Given the description of an element on the screen output the (x, y) to click on. 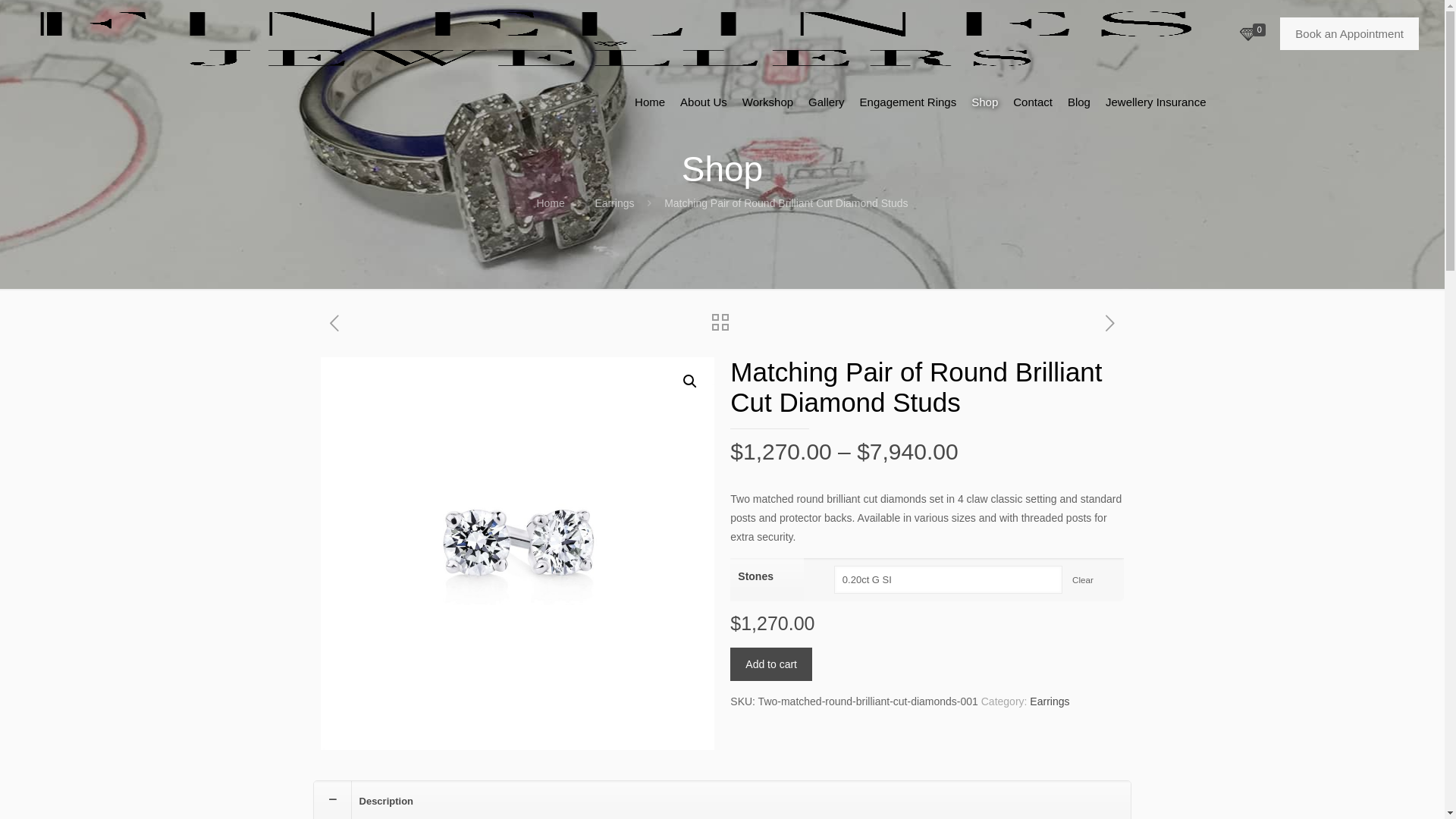
Jewellery Insurance Element type: text (1156, 102)
Workshop Element type: text (767, 102)
Earrings Element type: text (613, 203)
Home Element type: text (649, 102)
Clear Element type: text (1082, 579)
Book an Appointment Element type: text (1349, 33)
Shop Element type: text (984, 102)
Blog Element type: text (1079, 102)
Contact Element type: text (1032, 102)
Add to cart Element type: text (771, 663)
Two matched round brilliant cut diamonds 001 Element type: hover (516, 553)
About Us Element type: text (703, 102)
0 Element type: text (1254, 34)
Gallery Element type: text (826, 102)
Earrings Element type: text (1049, 701)
Finelines Jewellers Element type: hover (609, 34)
Home Element type: text (550, 203)
Engagement Rings Element type: text (908, 102)
